Given the description of an element on the screen output the (x, y) to click on. 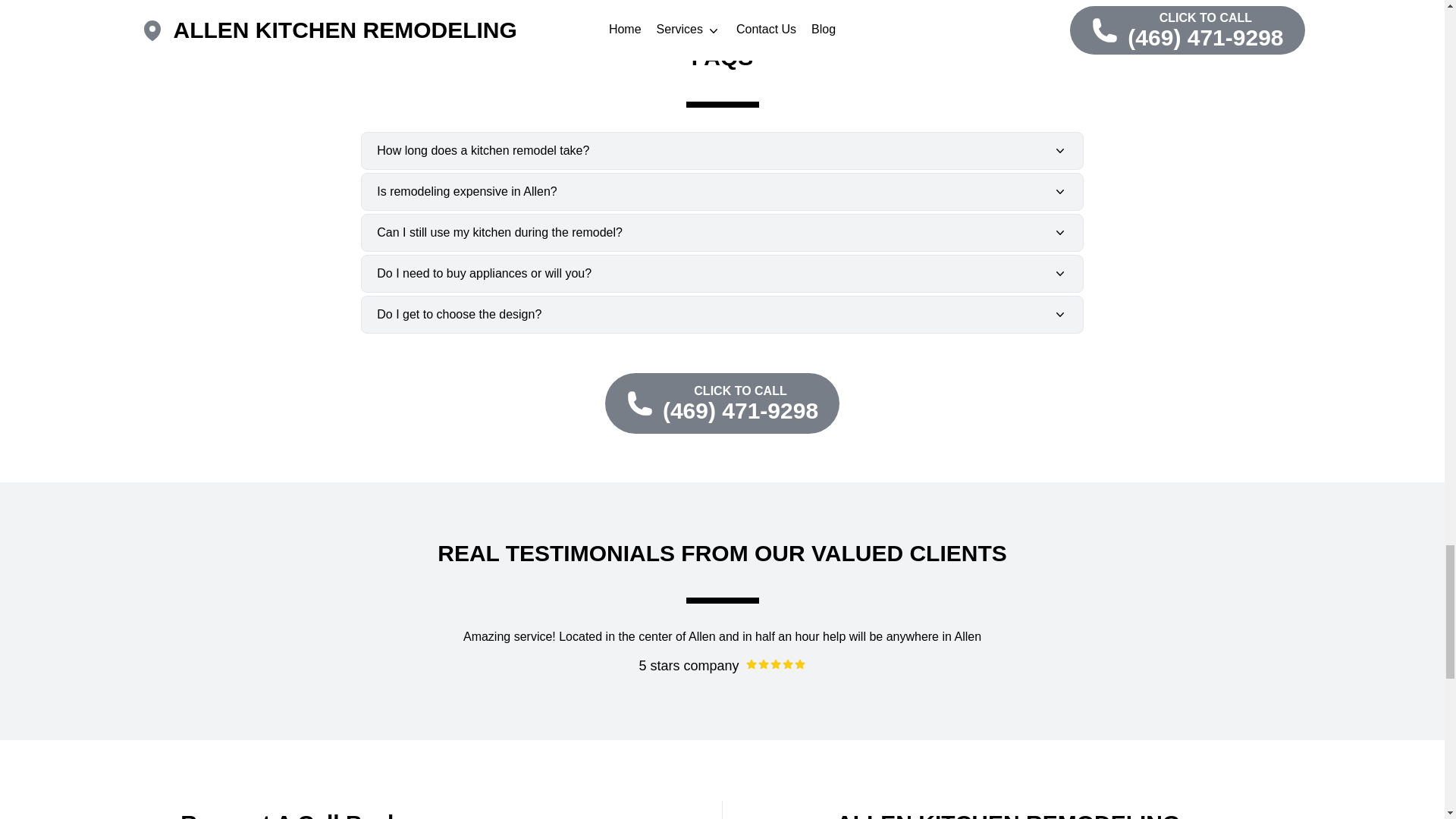
Is remodeling expensive in Allen? (722, 191)
Can I still use my kitchen during the remodel? (722, 232)
Click to call us (722, 403)
Do I need to buy appliances or will you? (722, 273)
How long does a kitchen remodel take? (722, 150)
